Given the description of an element on the screen output the (x, y) to click on. 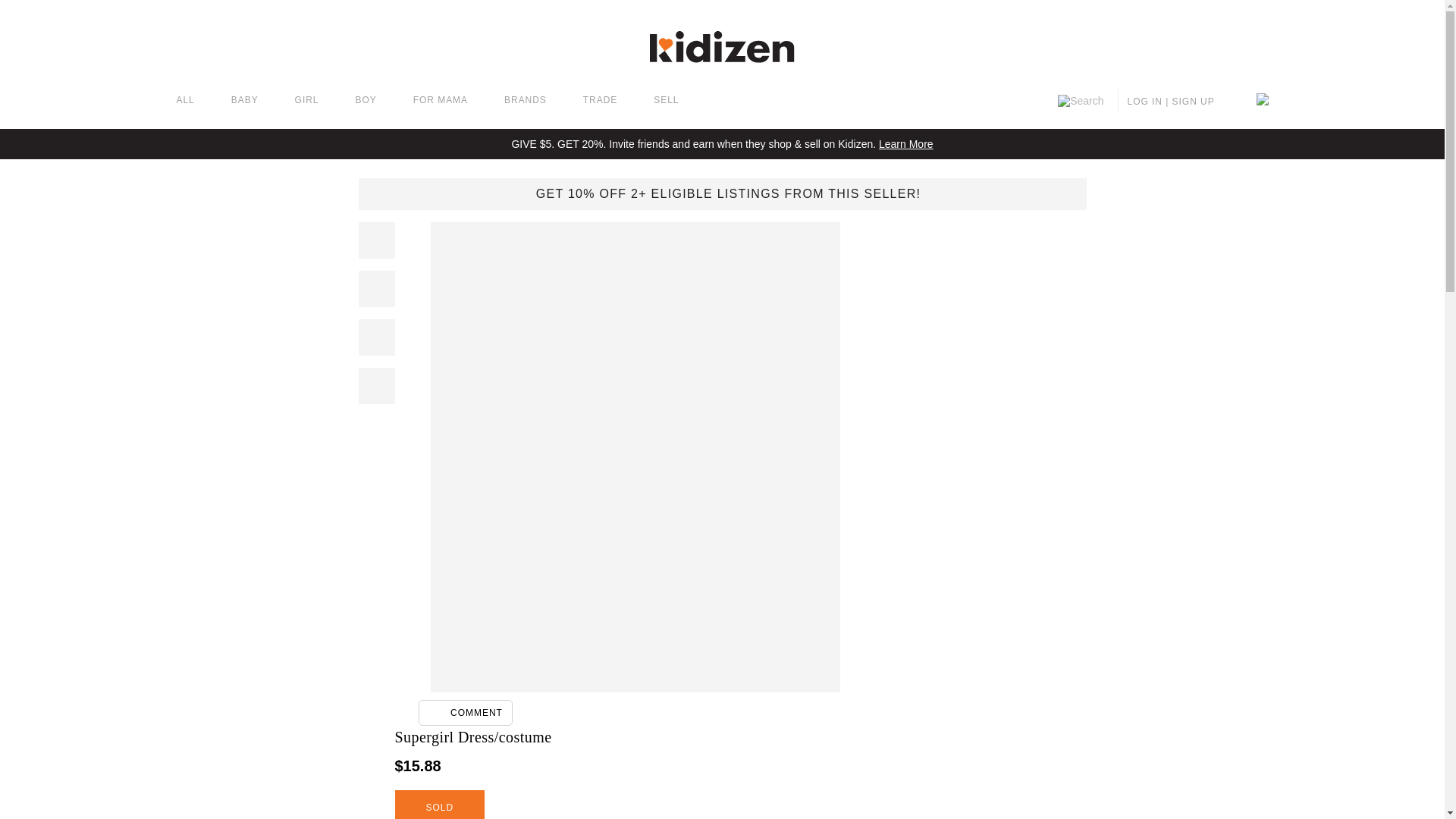
GIRL (306, 100)
TRADE (600, 100)
BOY (365, 100)
SIGN UP (1193, 101)
ALL (184, 100)
FOR MAMA (440, 100)
BABY (245, 100)
LOG IN (1143, 101)
COMMENT (465, 712)
BRANDS (525, 100)
